Given the description of an element on the screen output the (x, y) to click on. 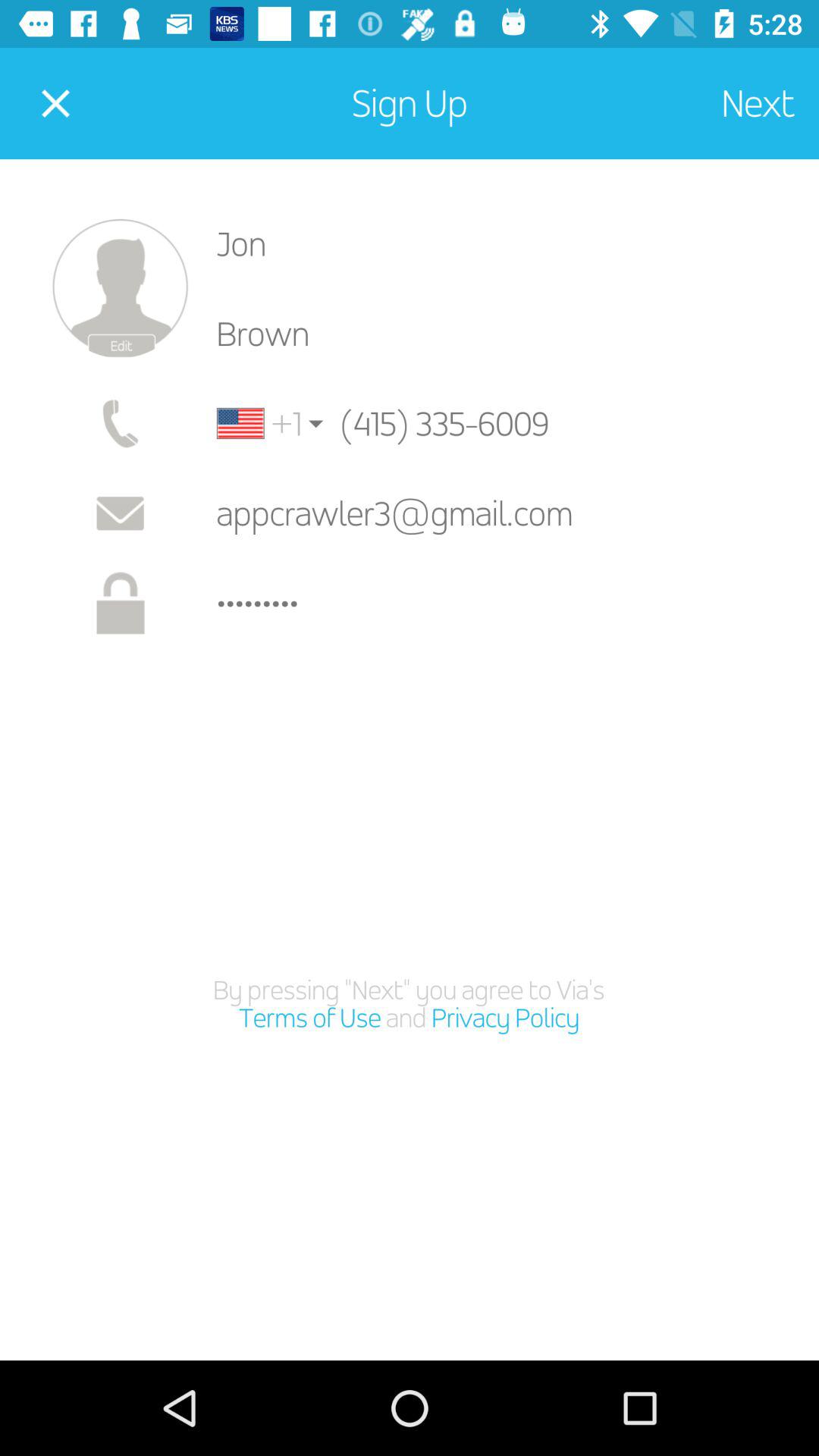
flip to brown (505, 333)
